Given the description of an element on the screen output the (x, y) to click on. 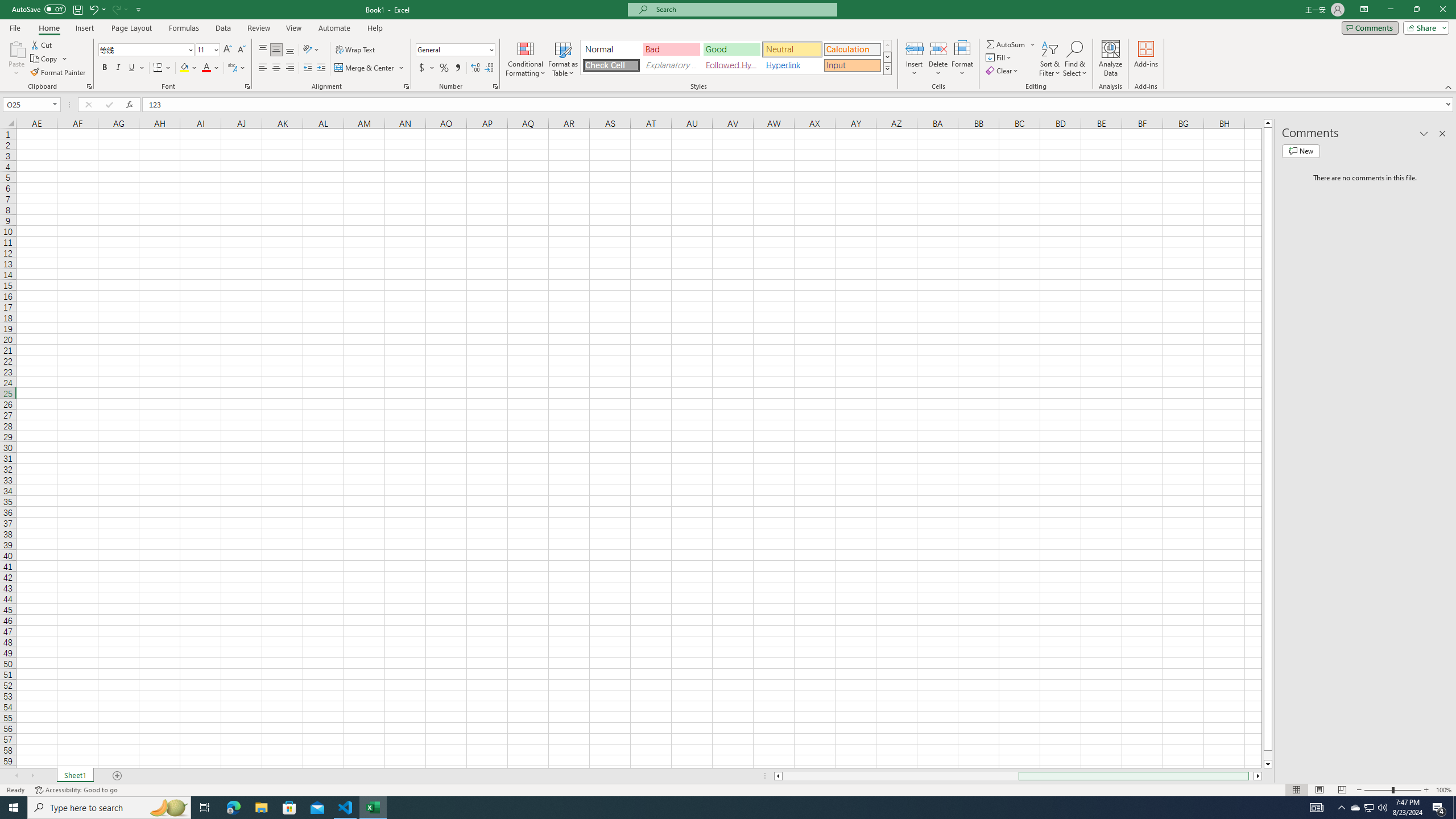
Paste (16, 58)
Wrap Text (355, 49)
Copy (49, 58)
Accounting Number Format (426, 67)
Analyze Data (1110, 58)
Increase Decimal (474, 67)
Percent Style (443, 67)
Italic (118, 67)
Bottom Align (290, 49)
New comment (1300, 151)
